Given the description of an element on the screen output the (x, y) to click on. 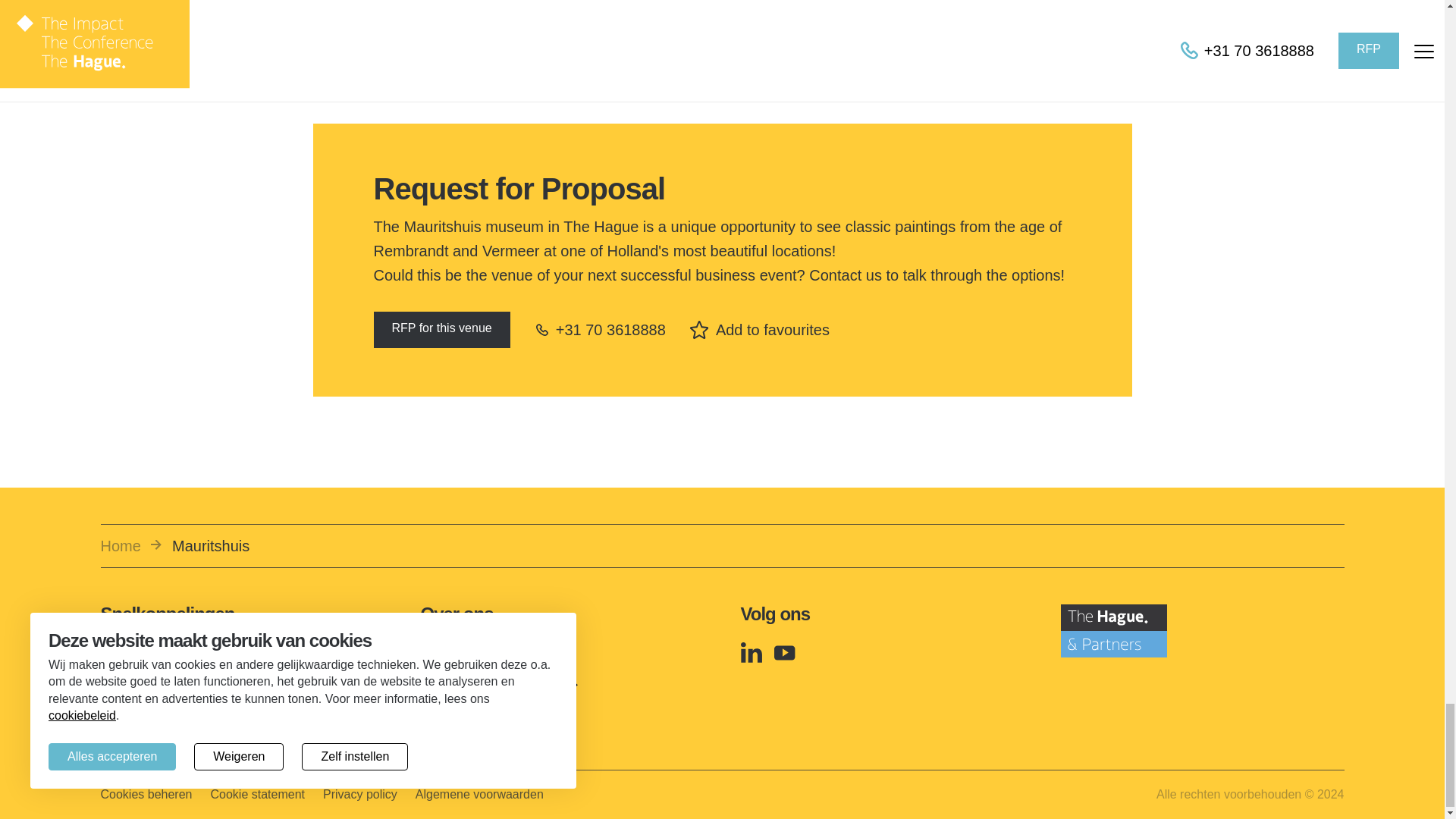
www.denhaag.com (172, 654)
